Given the description of an element on the screen output the (x, y) to click on. 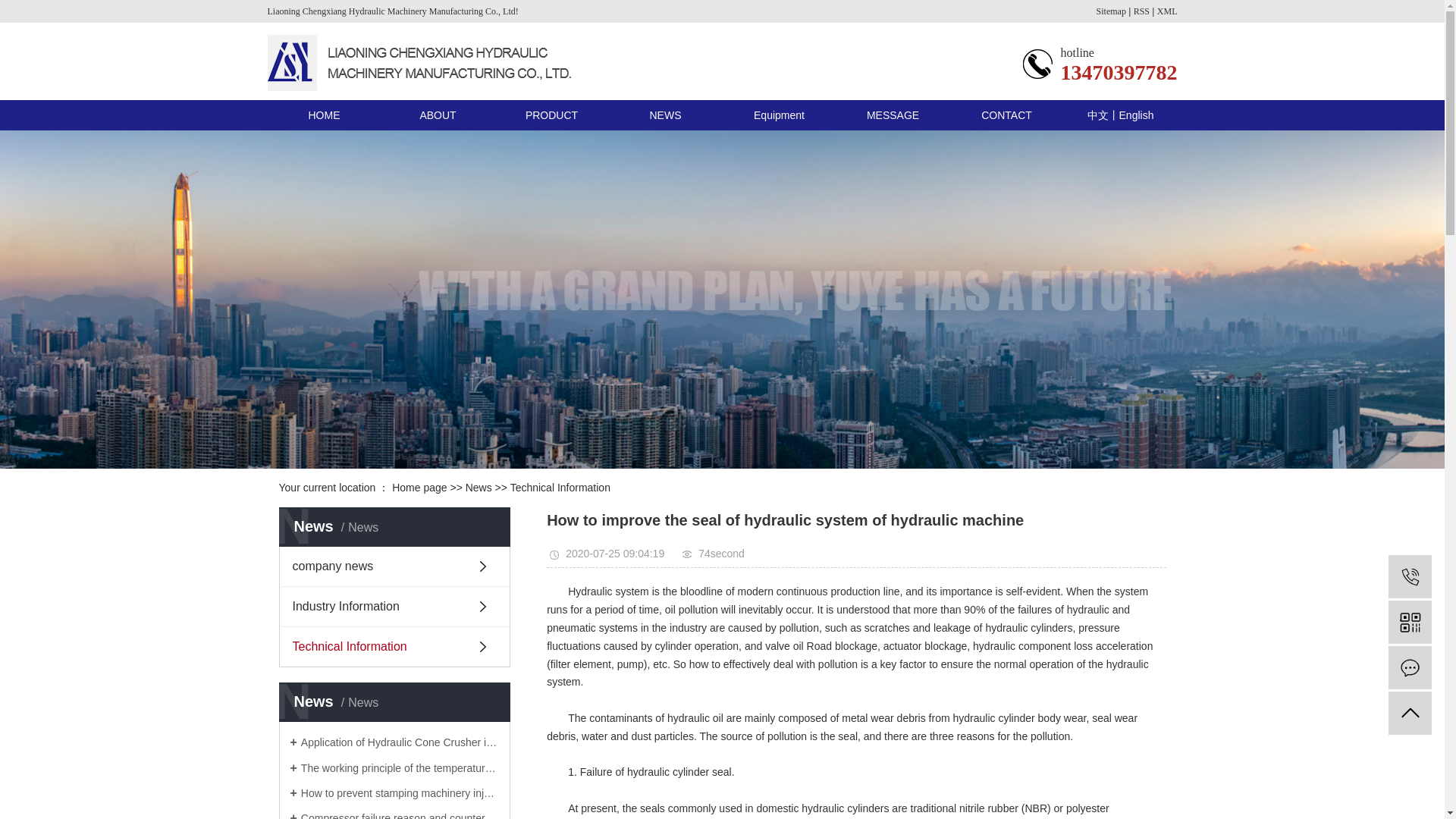
CONTACT (1005, 114)
PRODUCT (551, 114)
Compressor failure reason and countermeasure analysis (393, 814)
HOME (323, 114)
How to prevent stamping machinery injuries? (393, 792)
RSS (1142, 10)
MESSAGE (892, 114)
ABOUT (437, 114)
Equipment (778, 114)
Sitemap (1110, 10)
XML (1167, 10)
NEWS (665, 114)
